Given the description of an element on the screen output the (x, y) to click on. 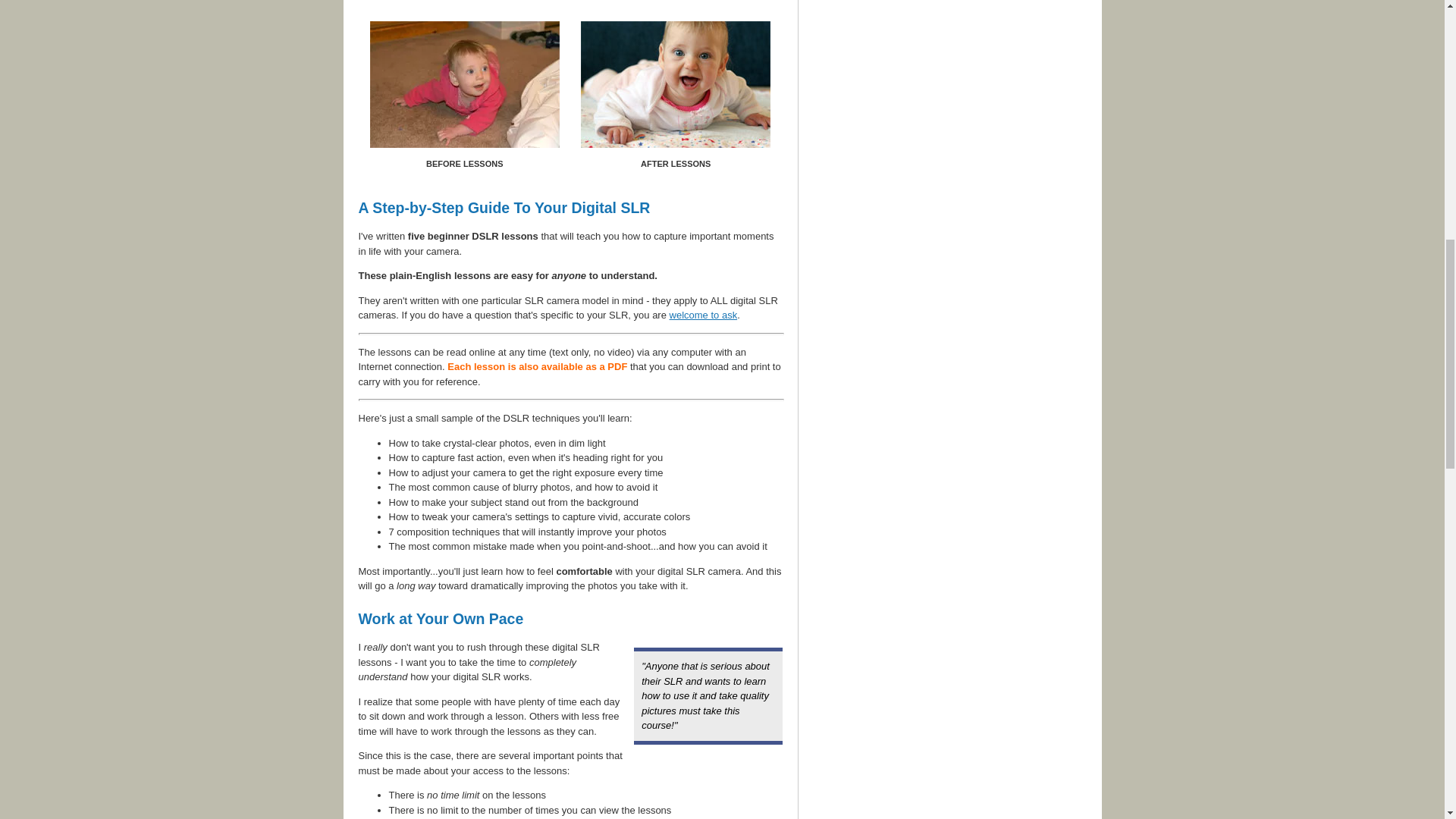
welcome to ask (703, 315)
Baby Photo With Flash (464, 84)
Baby Photo Natural Light (675, 84)
